Given the description of an element on the screen output the (x, y) to click on. 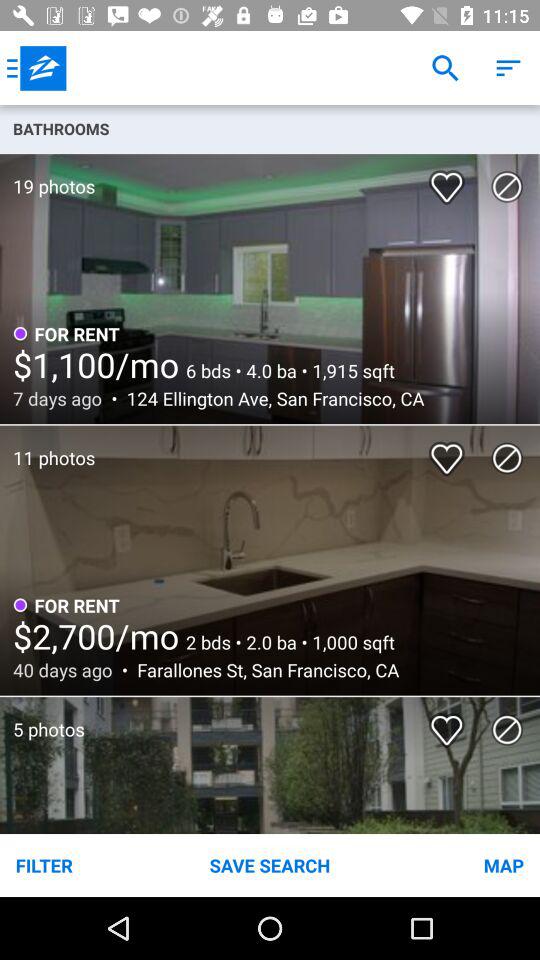
click the icon next to the 7 days ago (269, 398)
